Given the description of an element on the screen output the (x, y) to click on. 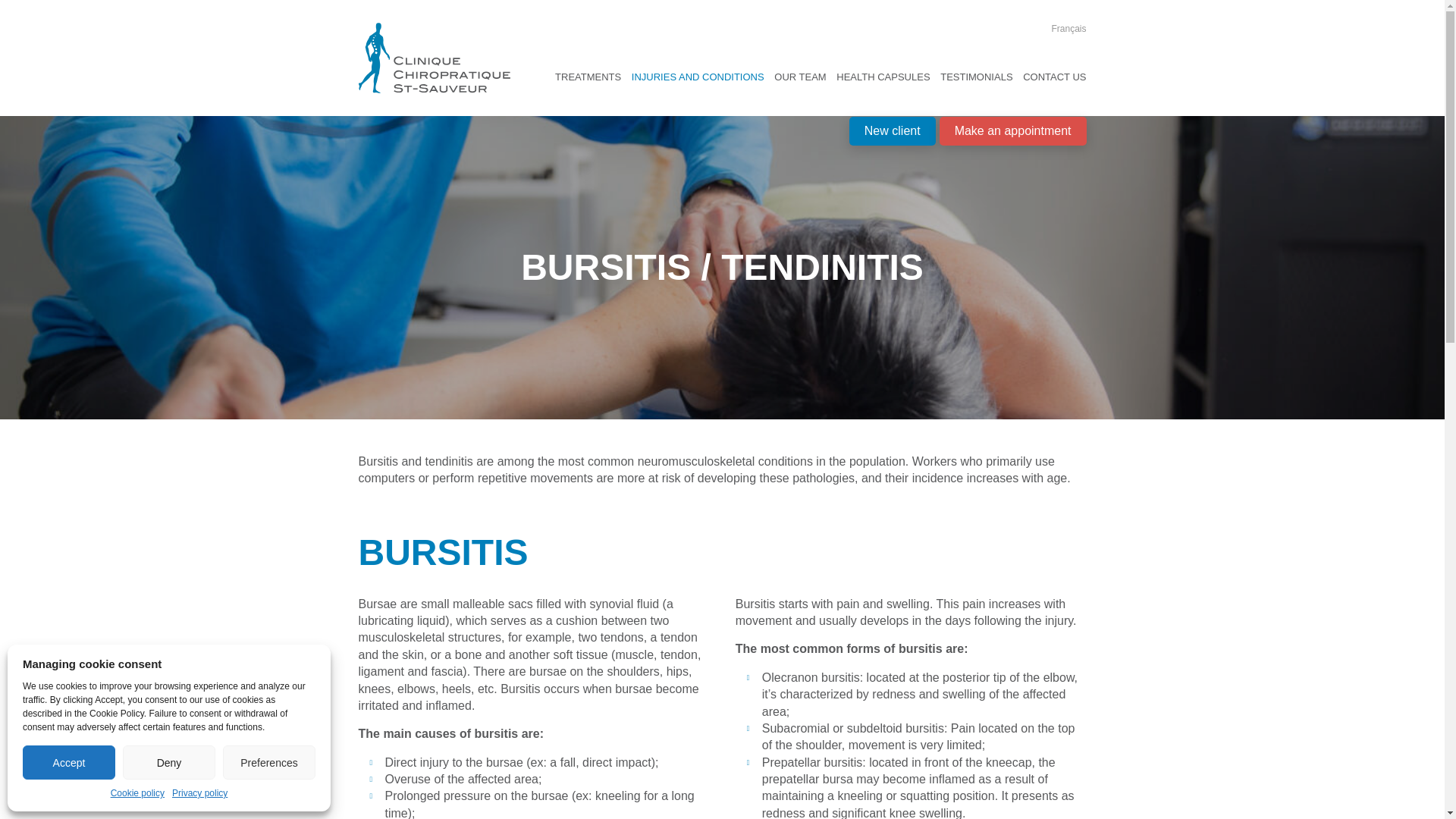
TREATMENTS (587, 76)
Cookie policy (137, 793)
Privacy policy (199, 793)
Deny (168, 762)
INJURIES AND CONDITIONS (697, 76)
Preferences (268, 762)
OUR TEAM (799, 76)
Accept (69, 762)
